Given the description of an element on the screen output the (x, y) to click on. 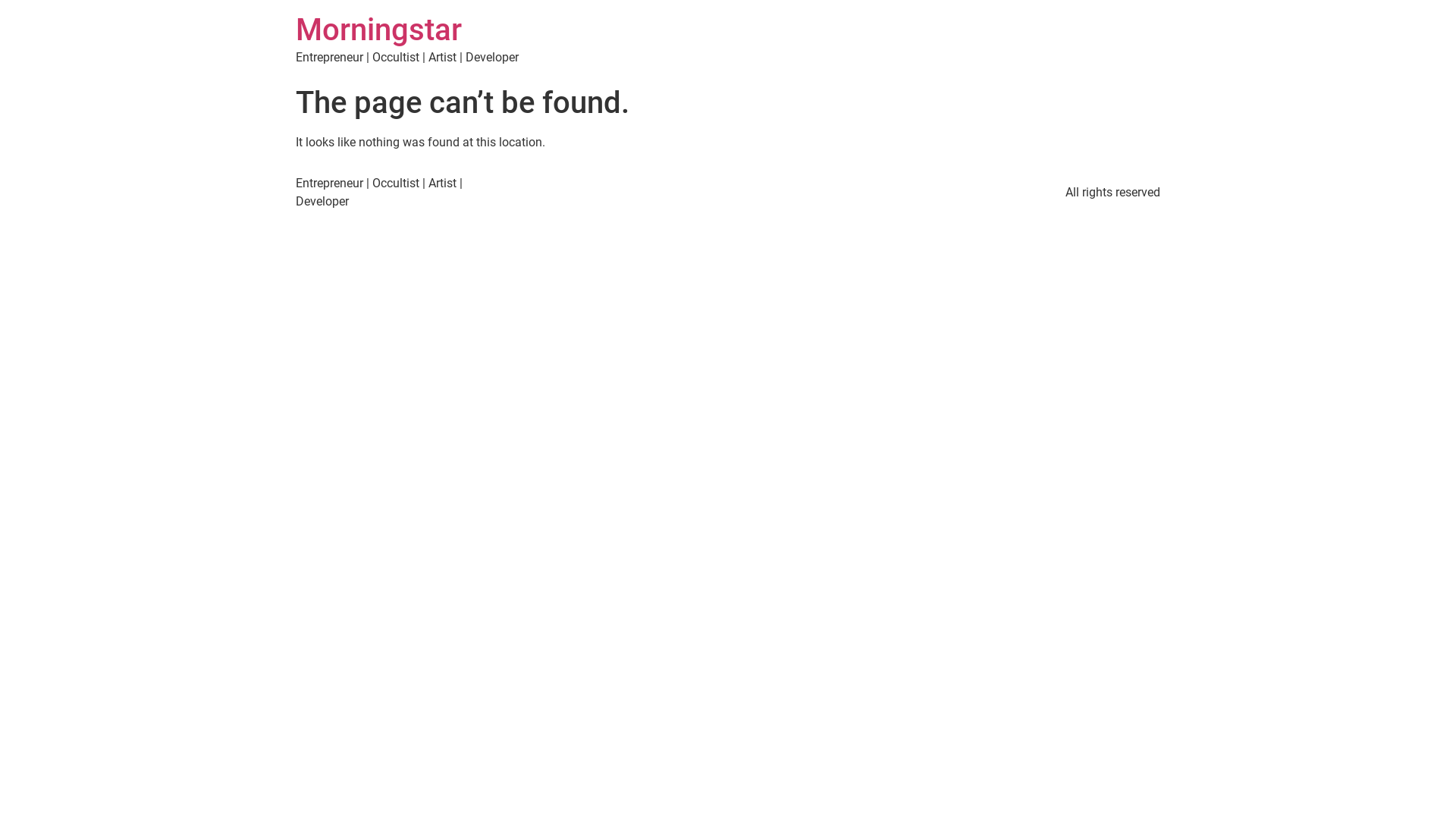
Morningstar Element type: text (378, 29)
